Given the description of an element on the screen output the (x, y) to click on. 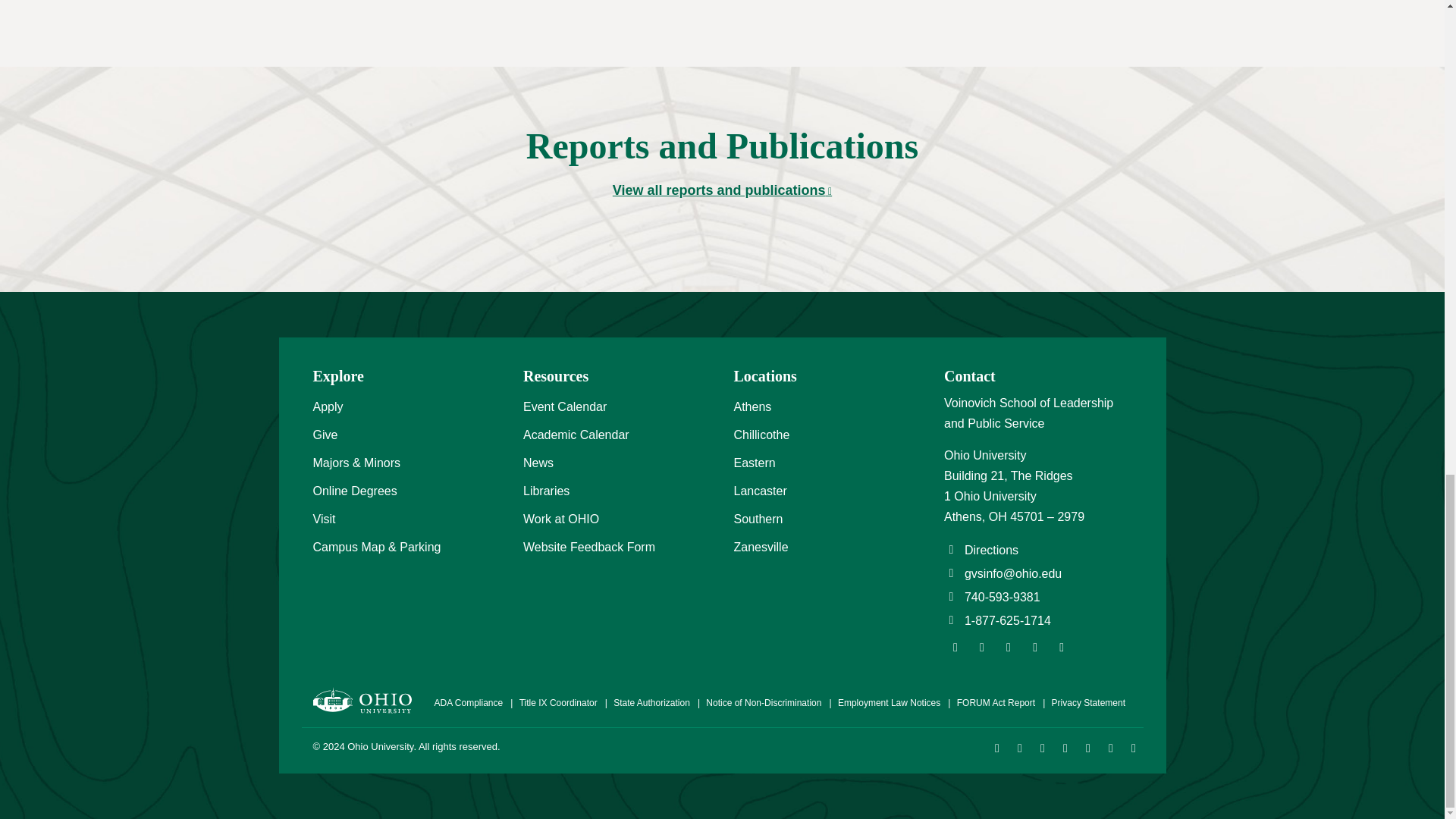
Reports and Publications (721, 190)
